Given the description of an element on the screen output the (x, y) to click on. 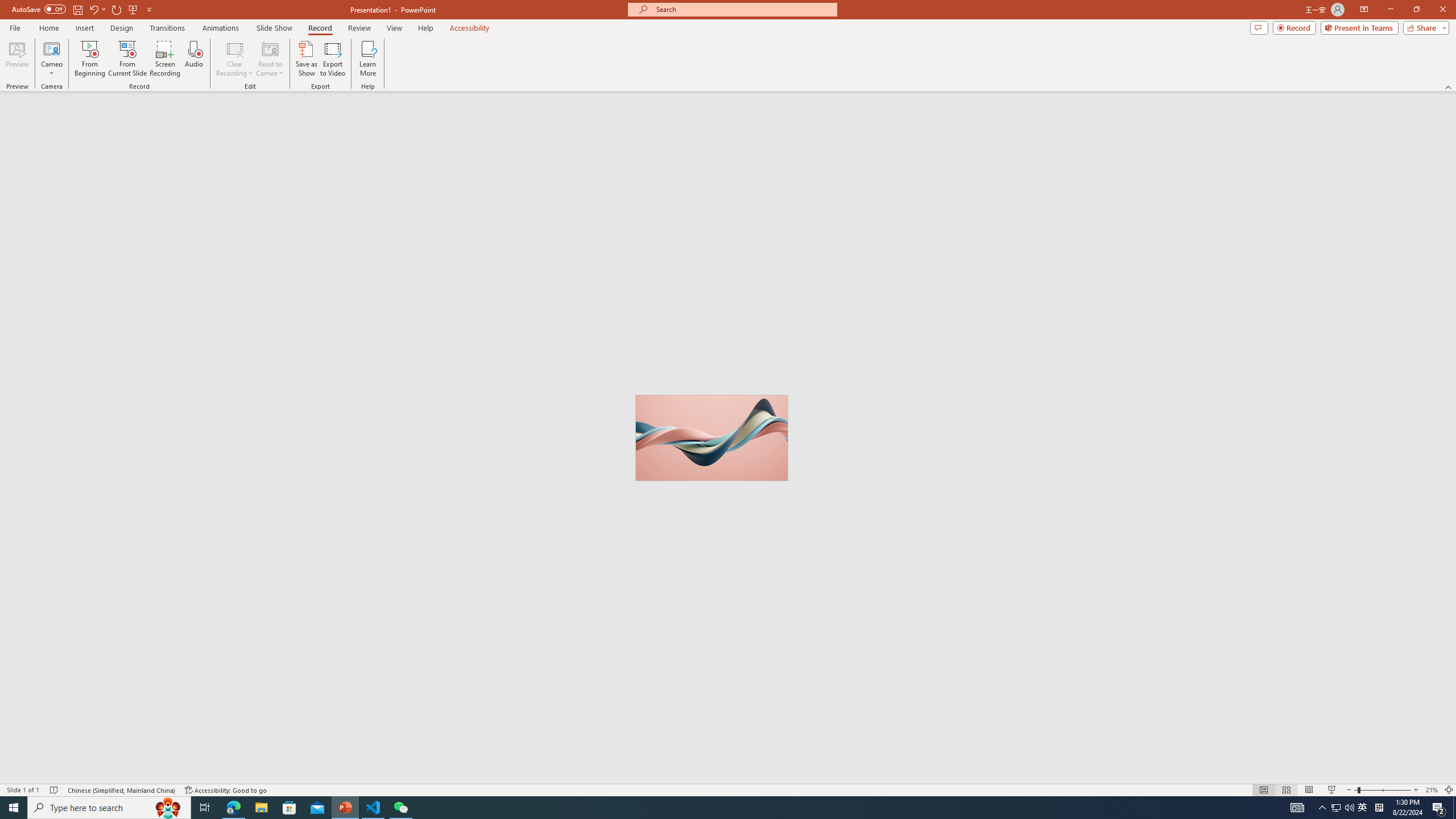
Learn More (368, 58)
Accessibility Checker Accessibility: Good to go (226, 790)
Export to Video (332, 58)
